Given the description of an element on the screen output the (x, y) to click on. 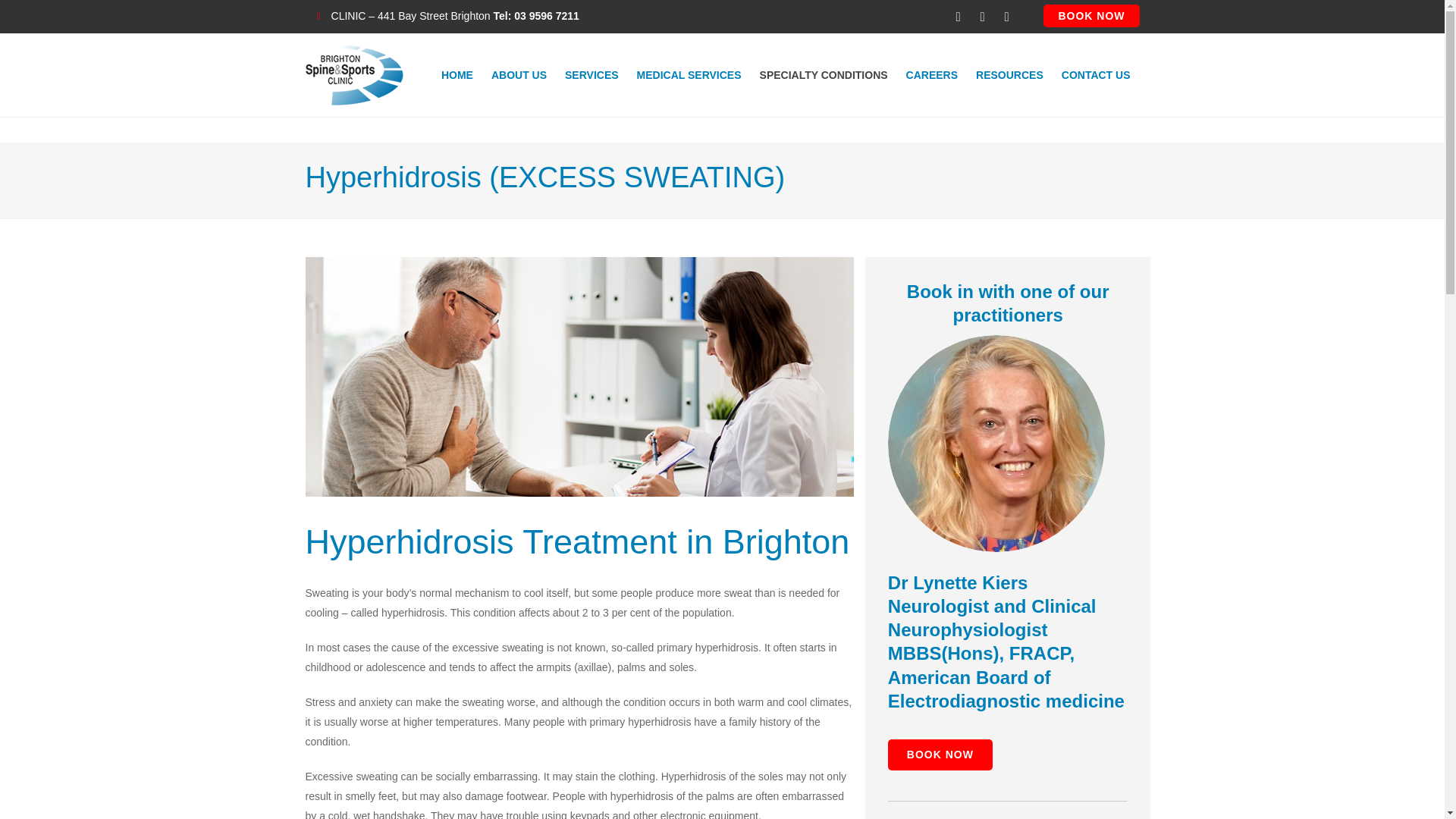
SPECIALTY CONDITIONS (823, 75)
Hyperhidrosis (578, 376)
MEDICAL SERVICES (689, 75)
RESOURCES (1009, 75)
Tel: 03 9596 7211 (536, 15)
BOOK NOW (1090, 15)
LKiers - Profile (996, 443)
